Given the description of an element on the screen output the (x, y) to click on. 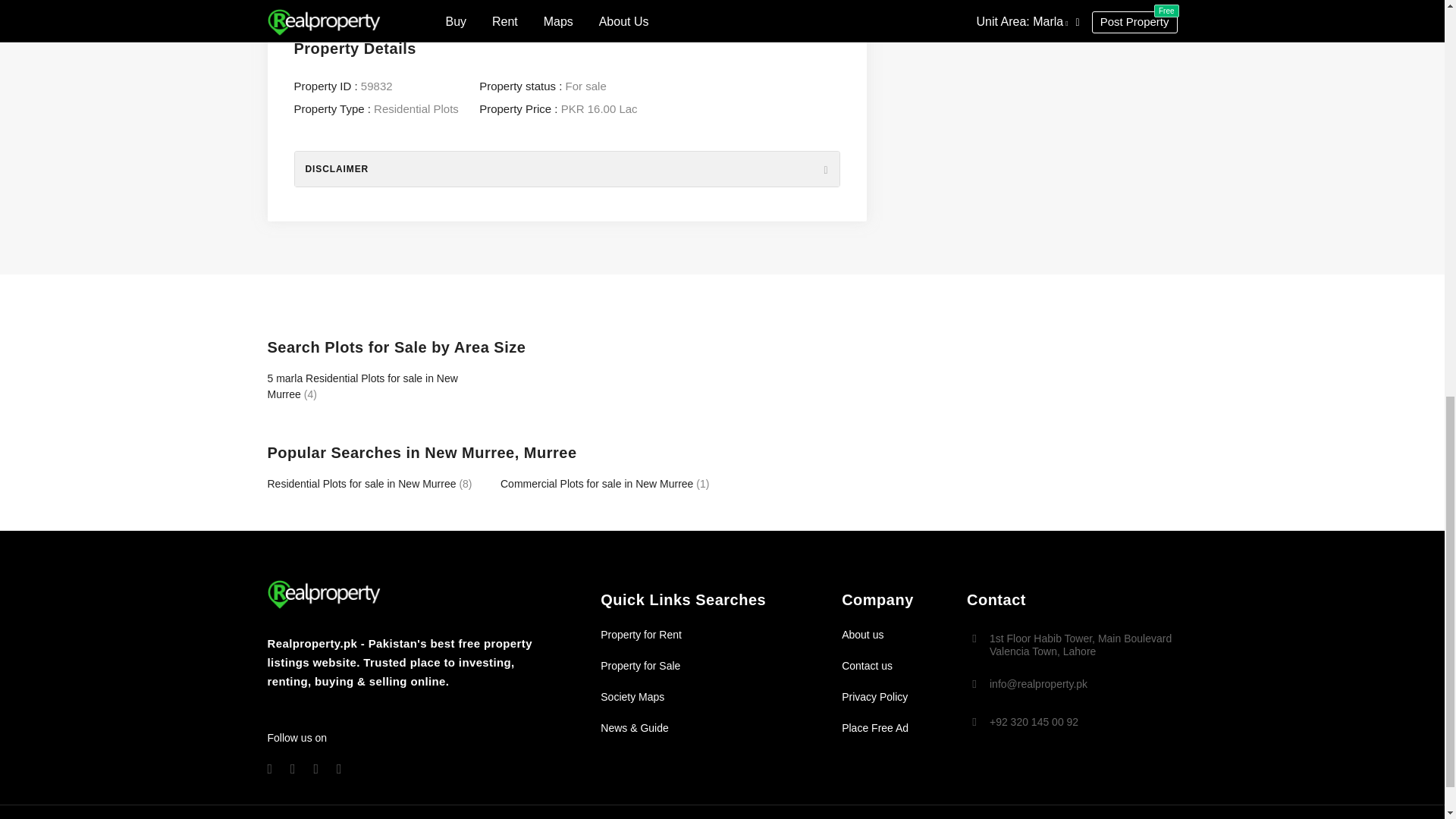
Residential Plots for sale in New Murree (360, 483)
Society Maps (631, 696)
5 marla Residential Plots for sale in New Murree (361, 386)
Property for Rent (640, 634)
DISCLAIMER (566, 168)
About us (862, 634)
Property for Sale (639, 665)
Commercial Plots for sale in New Murree (596, 483)
